Given the description of an element on the screen output the (x, y) to click on. 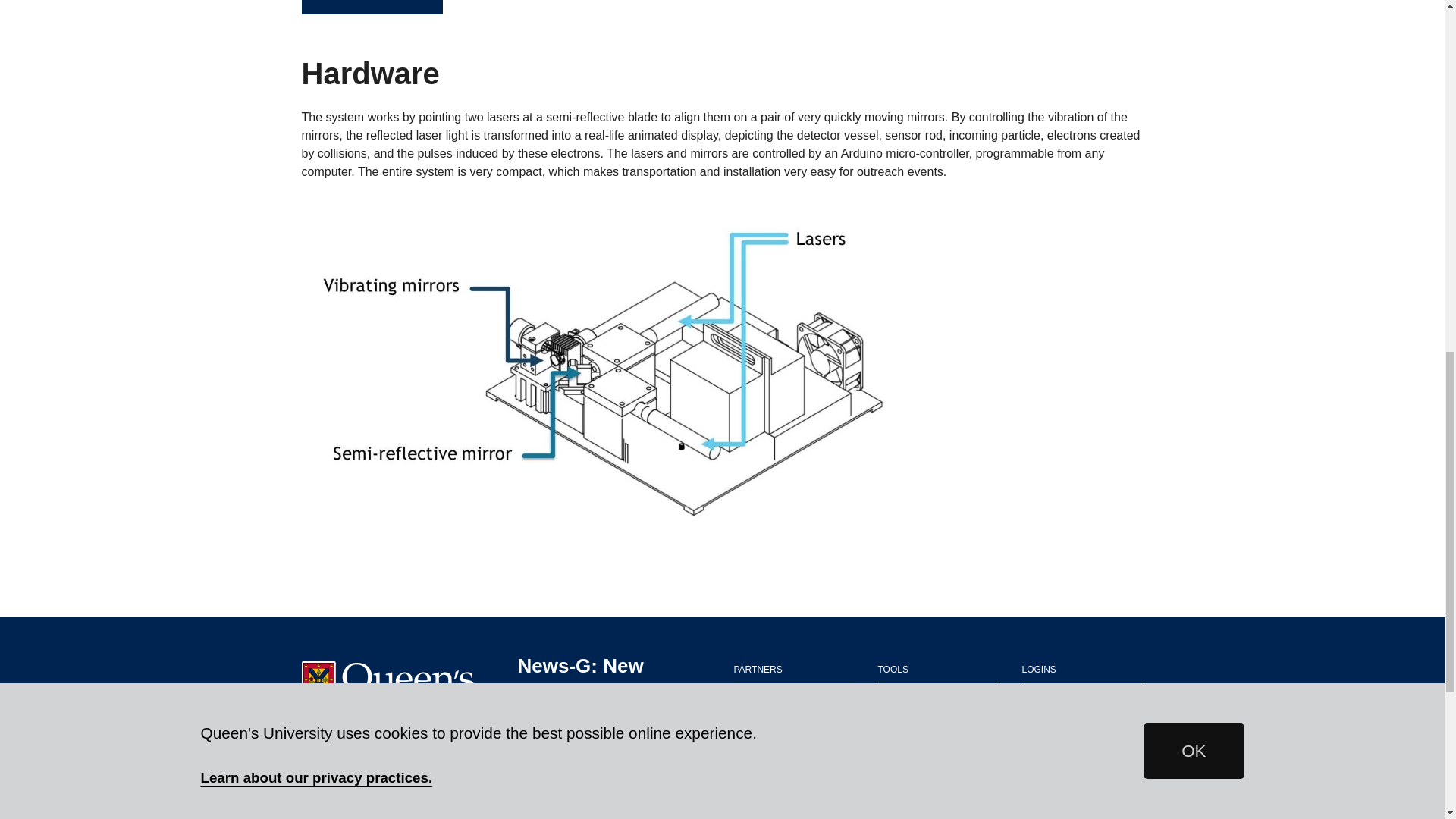
Laboratoire Souterrain de Modane (794, 767)
Canada Foundation for Innovation (794, 740)
Canada Excellence Research Chair (794, 712)
